Given the description of an element on the screen output the (x, y) to click on. 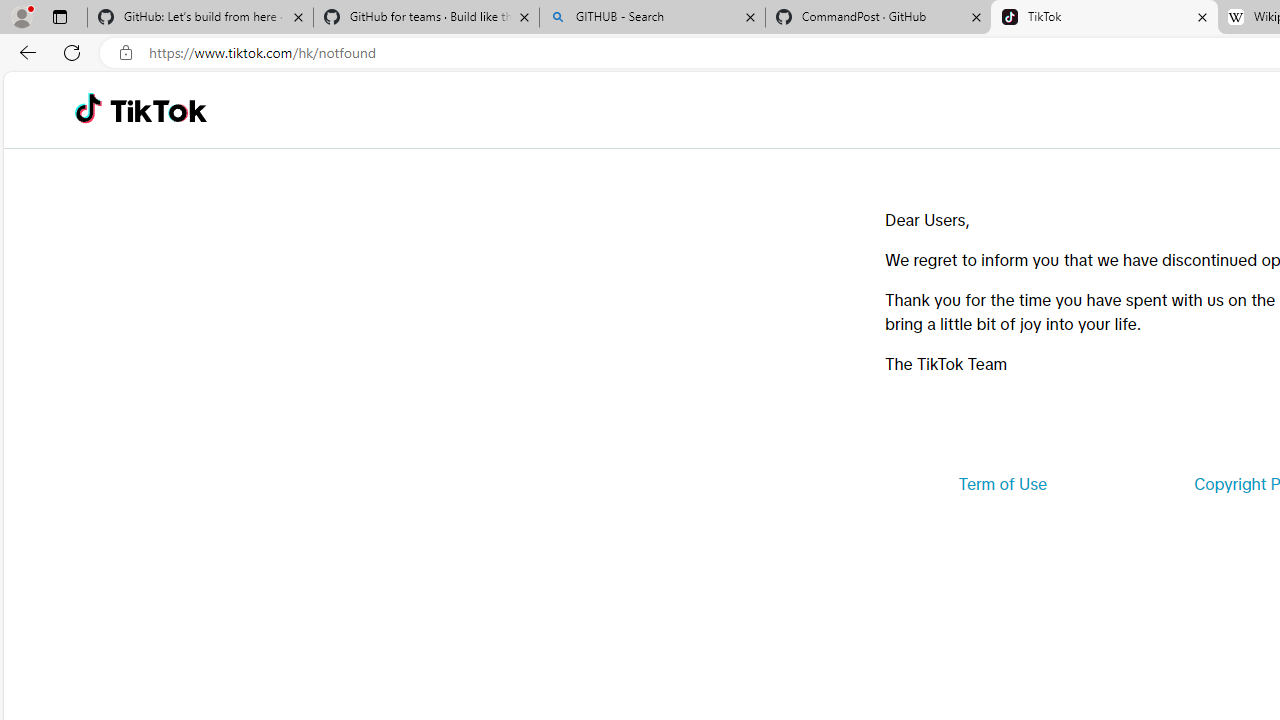
TikTok (1104, 17)
TikTok (158, 110)
Term of Use (1002, 484)
GITHUB - Search (652, 17)
